Given the description of an element on the screen output the (x, y) to click on. 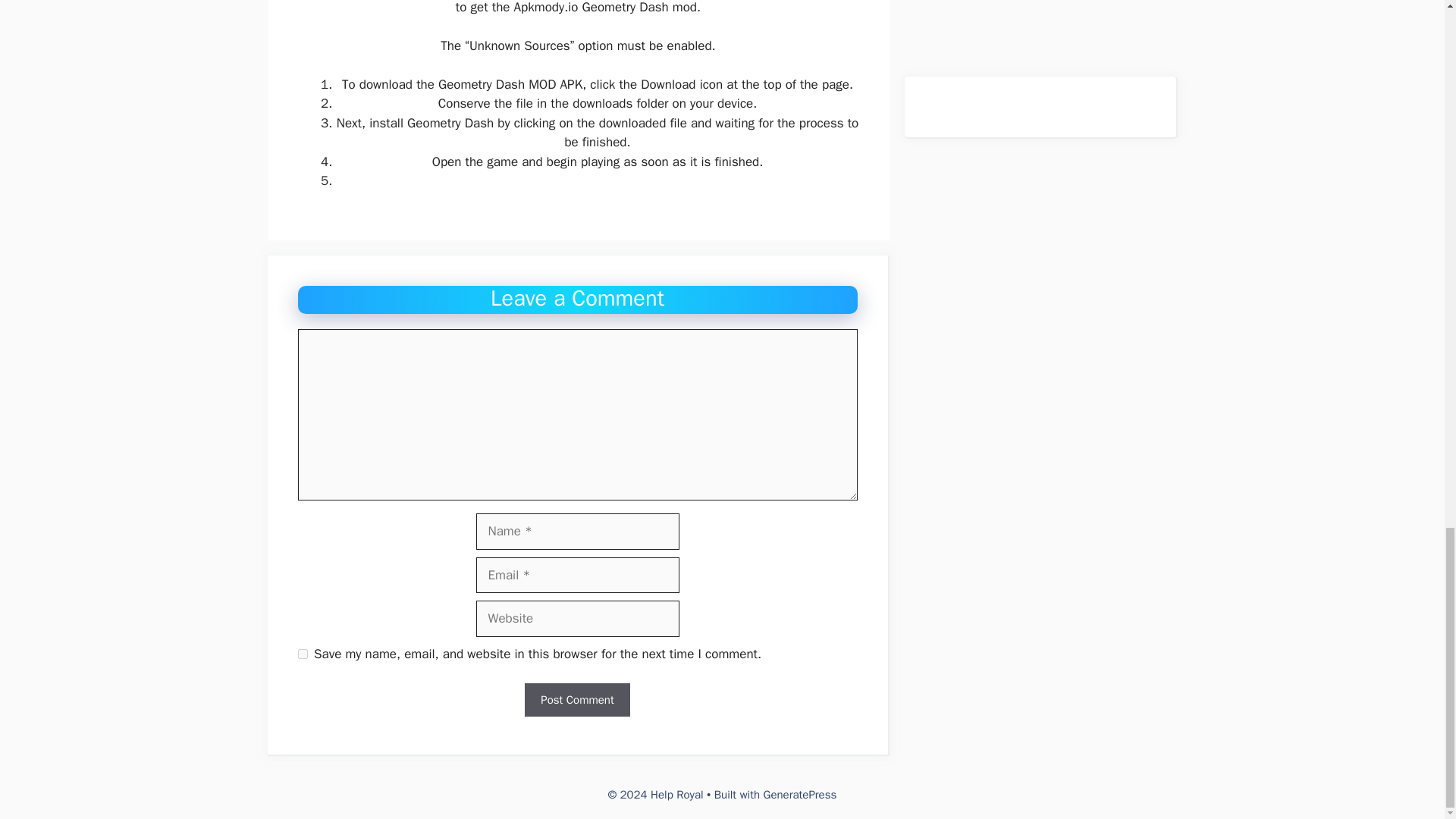
Post Comment (576, 700)
GeneratePress (799, 794)
Scroll back to top (1406, 27)
Post Comment (576, 700)
yes (302, 654)
